Given the description of an element on the screen output the (x, y) to click on. 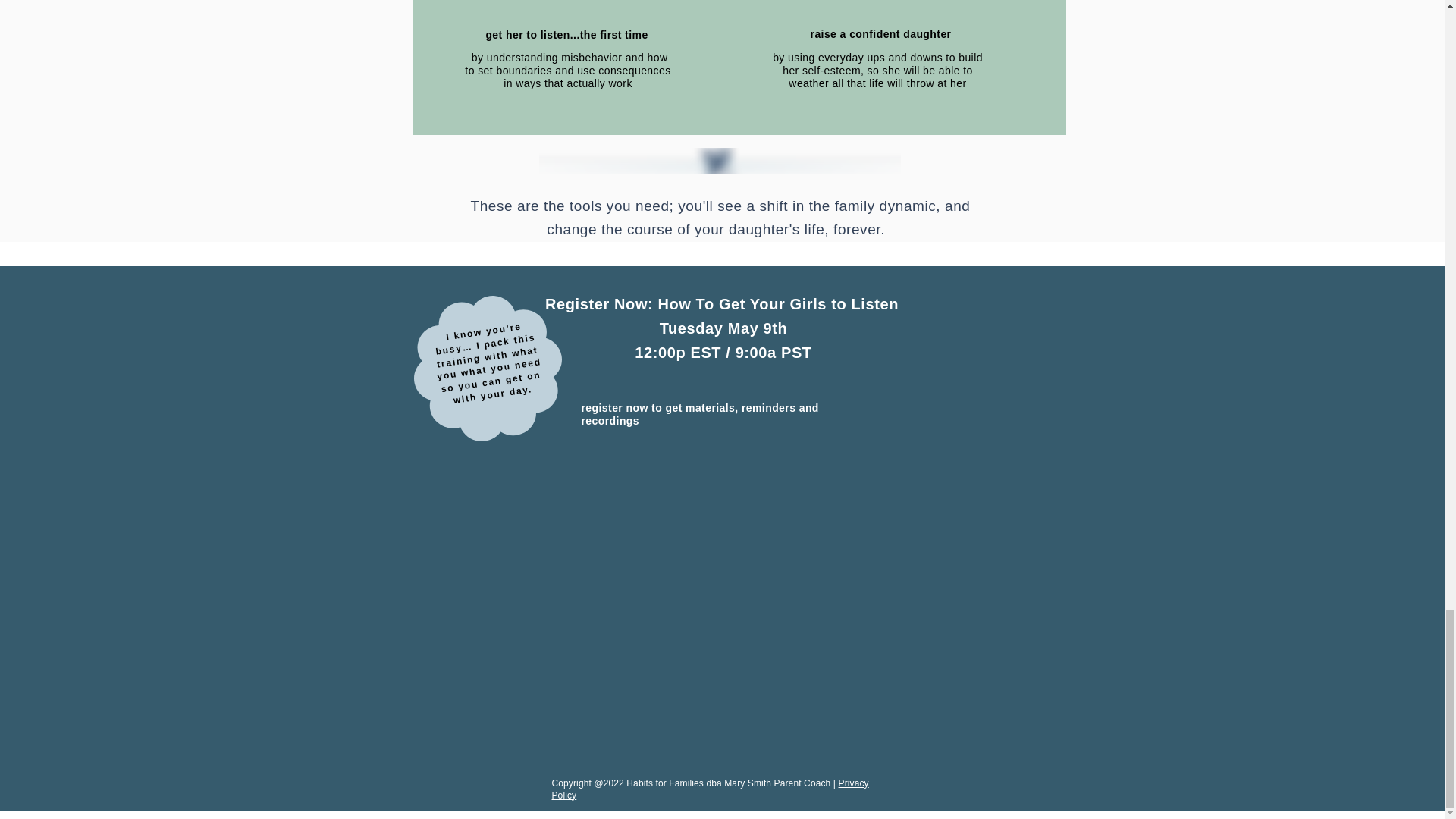
Privacy Policy (710, 789)
